Given the description of an element on the screen output the (x, y) to click on. 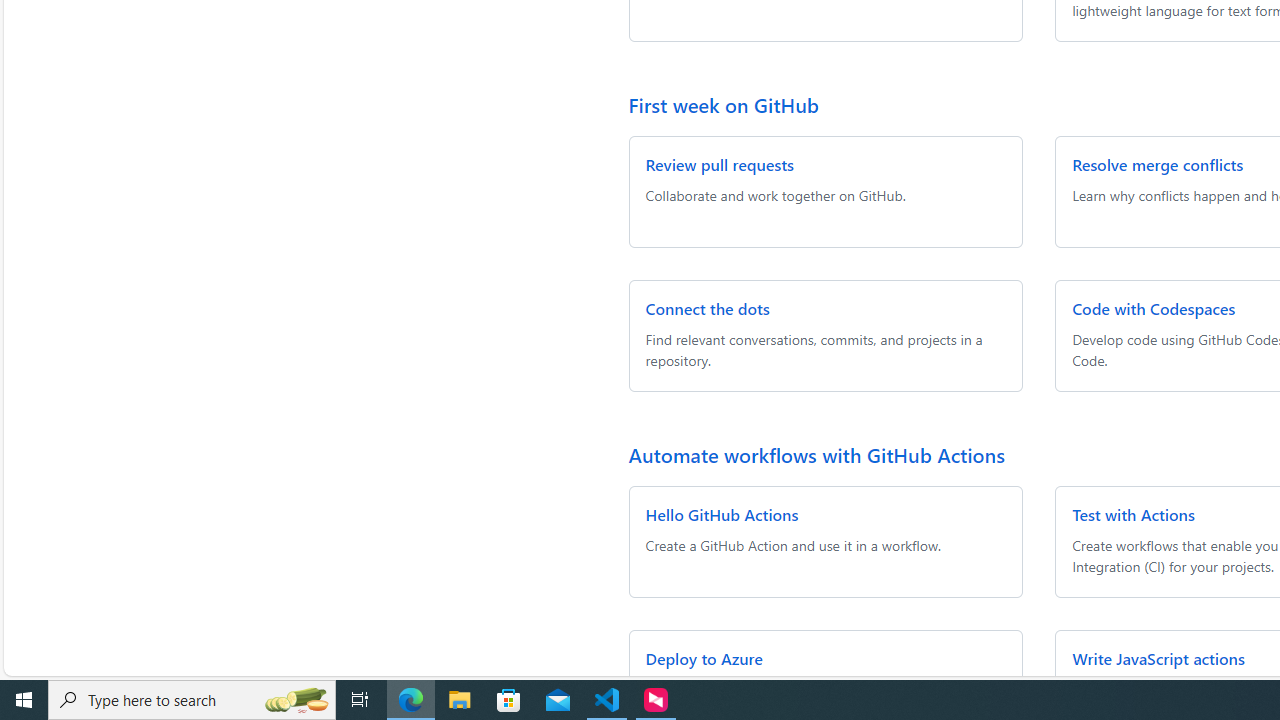
Hello GitHub Actions (721, 513)
Connect the dots (707, 308)
First week on GitHub (723, 104)
Review pull requests (719, 164)
Deploy to Azure (703, 658)
Test with Actions (1133, 513)
Code with Codespaces (1154, 308)
Write JavaScript actions (1158, 658)
Automate workflows with GitHub Actions (816, 454)
Resolve merge conflicts (1158, 164)
